Given the description of an element on the screen output the (x, y) to click on. 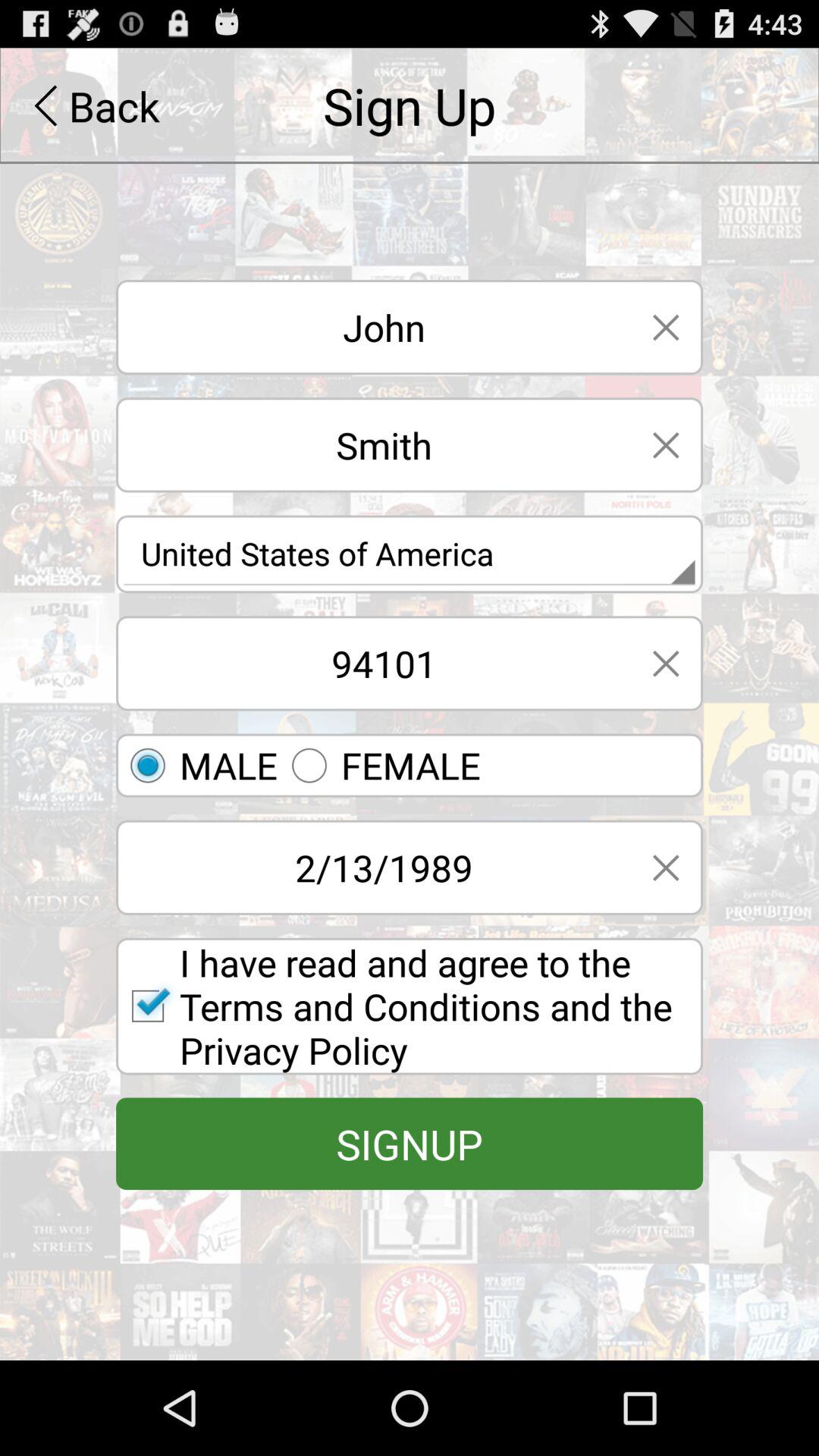
select the close tab (665, 867)
